Given the description of an element on the screen output the (x, y) to click on. 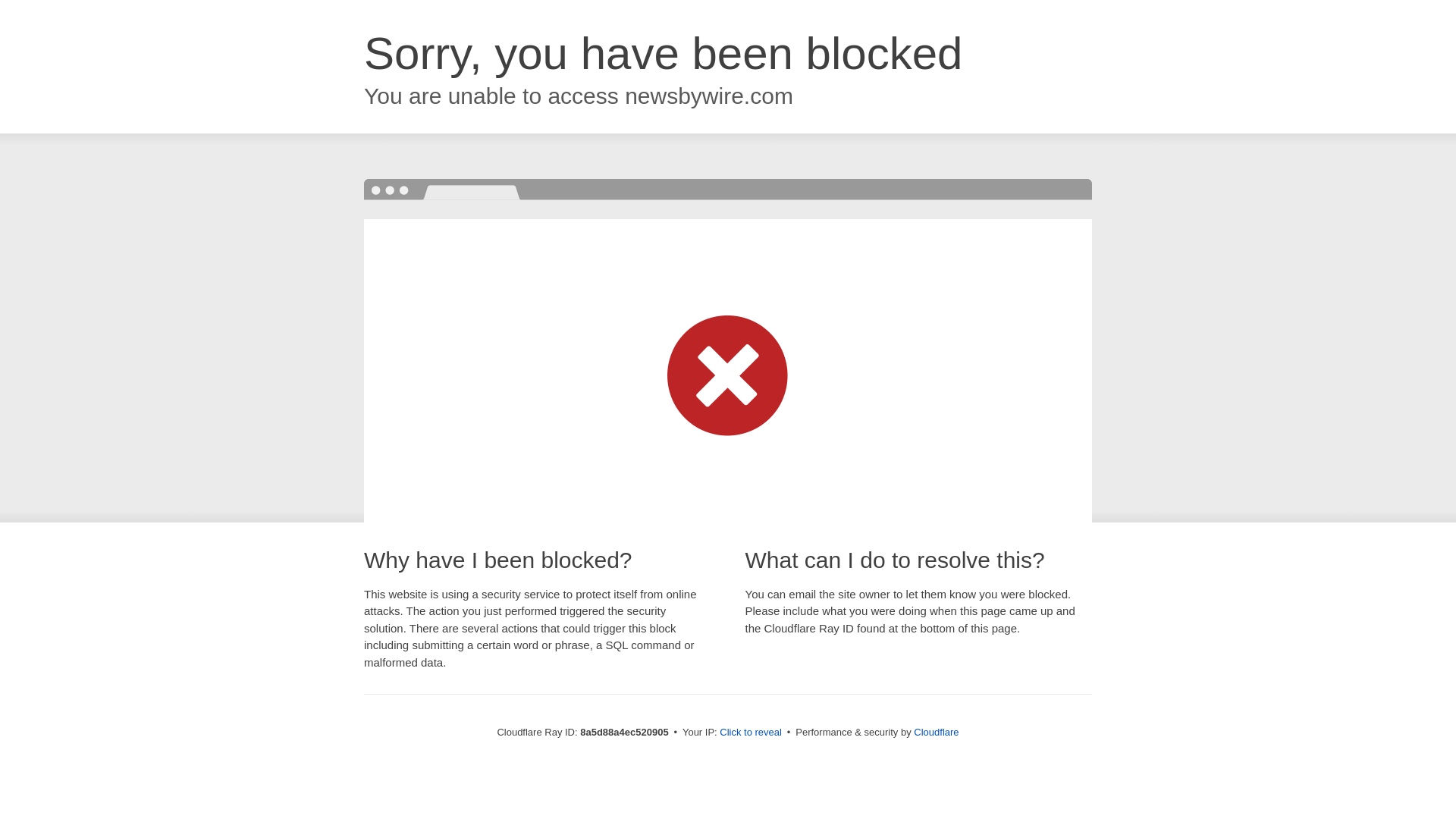
Click to reveal (750, 732)
Cloudflare (936, 731)
